Given the description of an element on the screen output the (x, y) to click on. 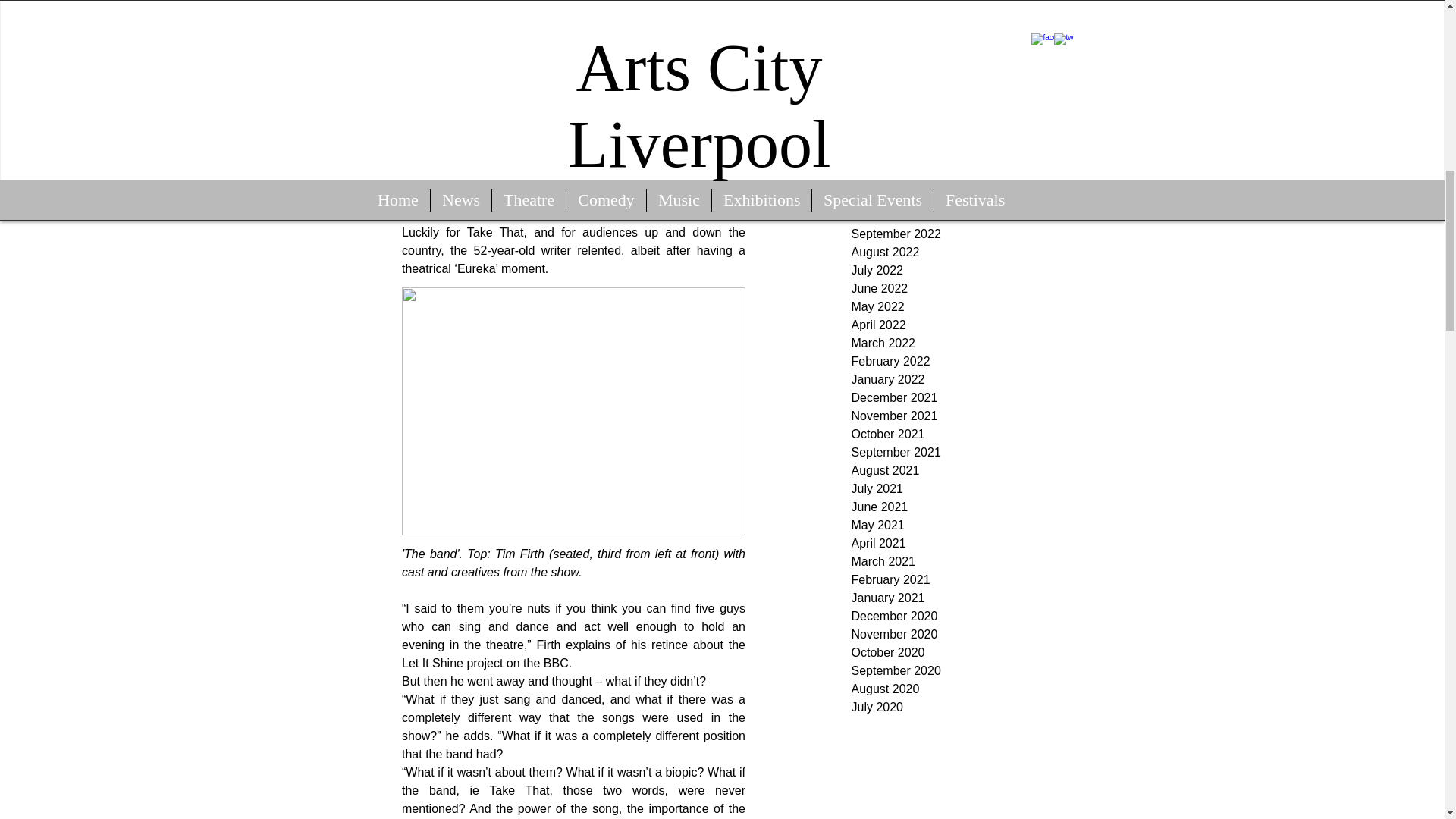
October 2022 (964, 216)
February 2023 (964, 143)
June 2023 (964, 70)
July 2022 (964, 270)
September 2023 (964, 15)
November 2022 (964, 198)
September 2022 (964, 234)
March 2023 (964, 125)
April 2023 (964, 106)
July 2023 (964, 52)
